Given the description of an element on the screen output the (x, y) to click on. 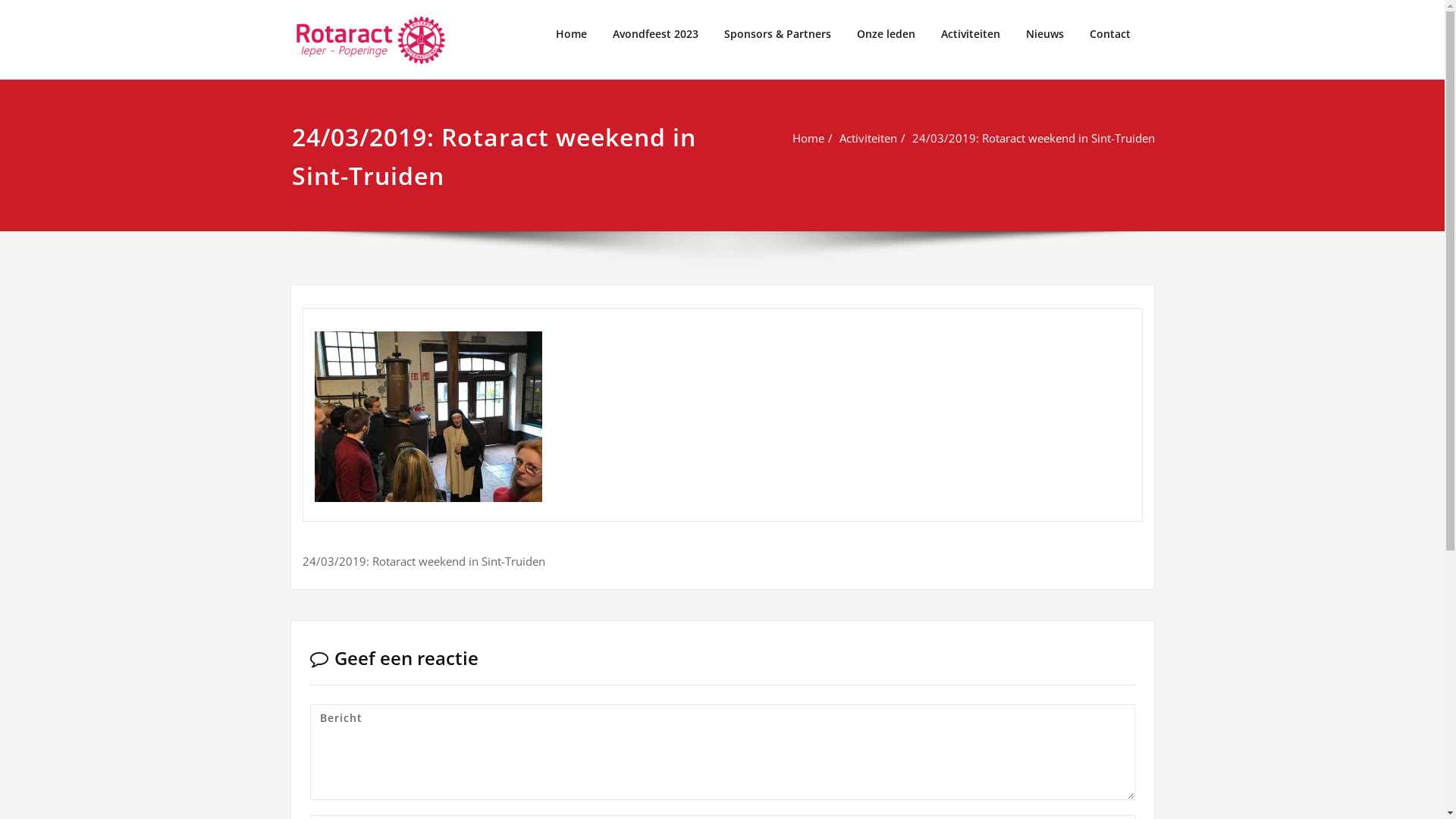
24/03/2019: Rotaract weekend in Sint-Truiden Element type: text (1032, 137)
Activiteiten Element type: text (970, 34)
Activiteiten Element type: text (867, 137)
Home Element type: text (570, 34)
Nieuws Element type: text (1044, 34)
Onze leden Element type: text (885, 34)
Sponsors & Partners Element type: text (777, 34)
Spring naar de inhoud Element type: text (0, 0)
Avondfeest 2023 Element type: text (654, 34)
Rotaract Ieper-Poperinge Element type: text (623, 24)
Home Element type: text (807, 137)
Contact Element type: text (1109, 34)
